Given the description of an element on the screen output the (x, y) to click on. 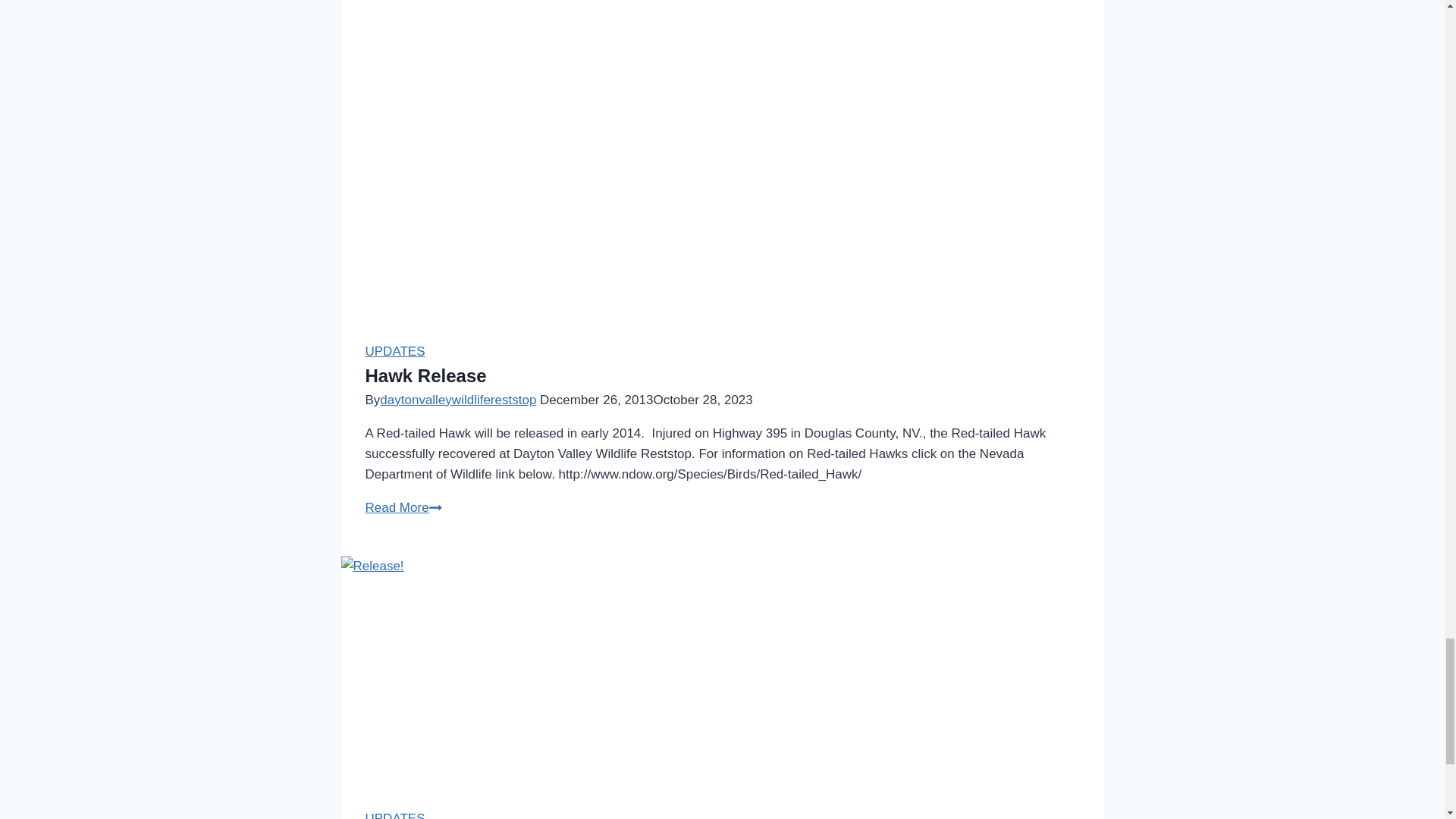
UPDATES (403, 507)
UPDATES (395, 350)
daytonvalleywildlifereststop (395, 815)
Hawk Release (457, 400)
